Given the description of an element on the screen output the (x, y) to click on. 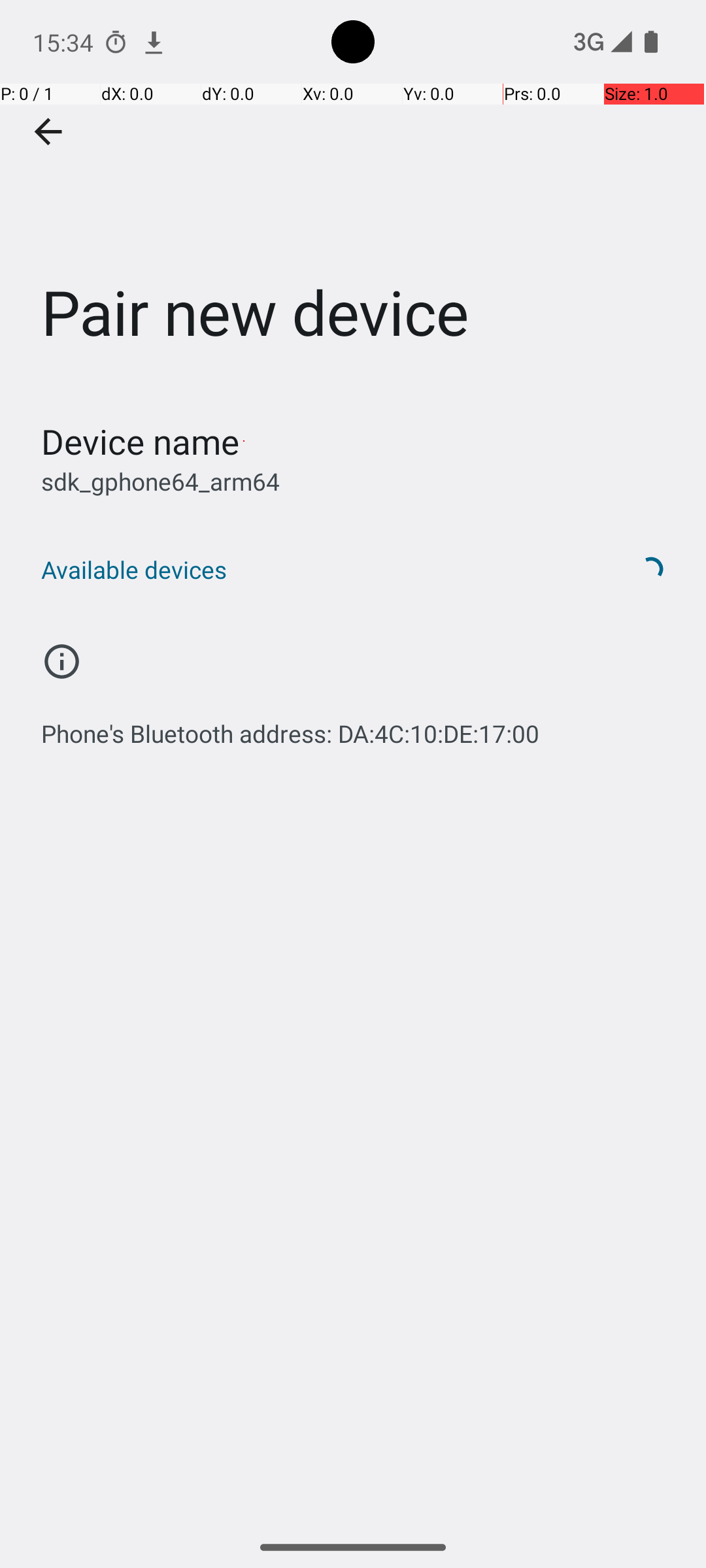
Available devices Element type: android.widget.TextView (318, 569)
Phone's Bluetooth address: DA:4C:10:DE:17:00 Element type: android.widget.TextView (290, 726)
